Given the description of an element on the screen output the (x, y) to click on. 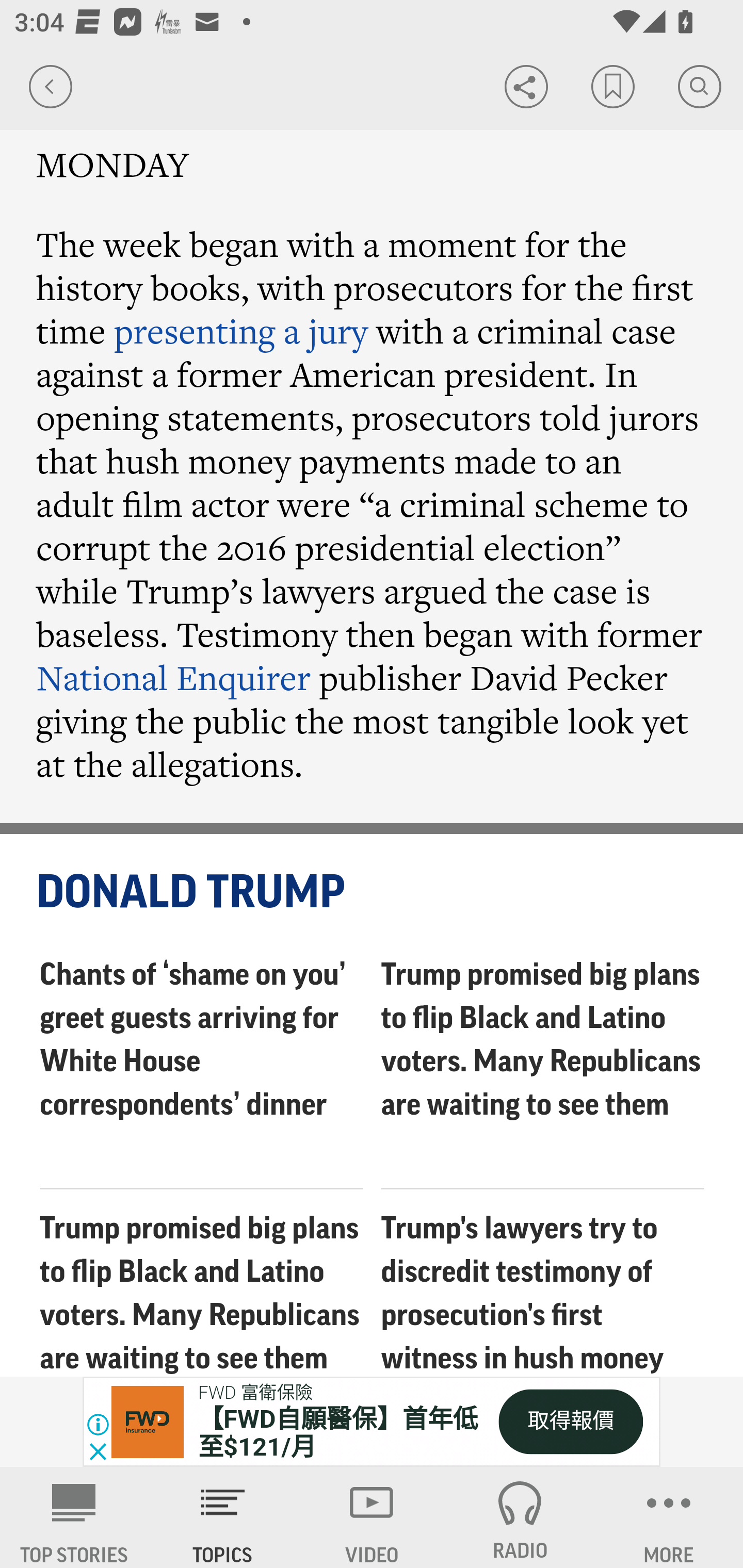
presenting a jury (240, 330)
National Enquirer (174, 676)
DONALD TRUMP (372, 891)
AP News TOP STORIES (74, 1517)
TOPICS (222, 1517)
VIDEO (371, 1517)
RADIO (519, 1517)
MORE (668, 1517)
